Given the description of an element on the screen output the (x, y) to click on. 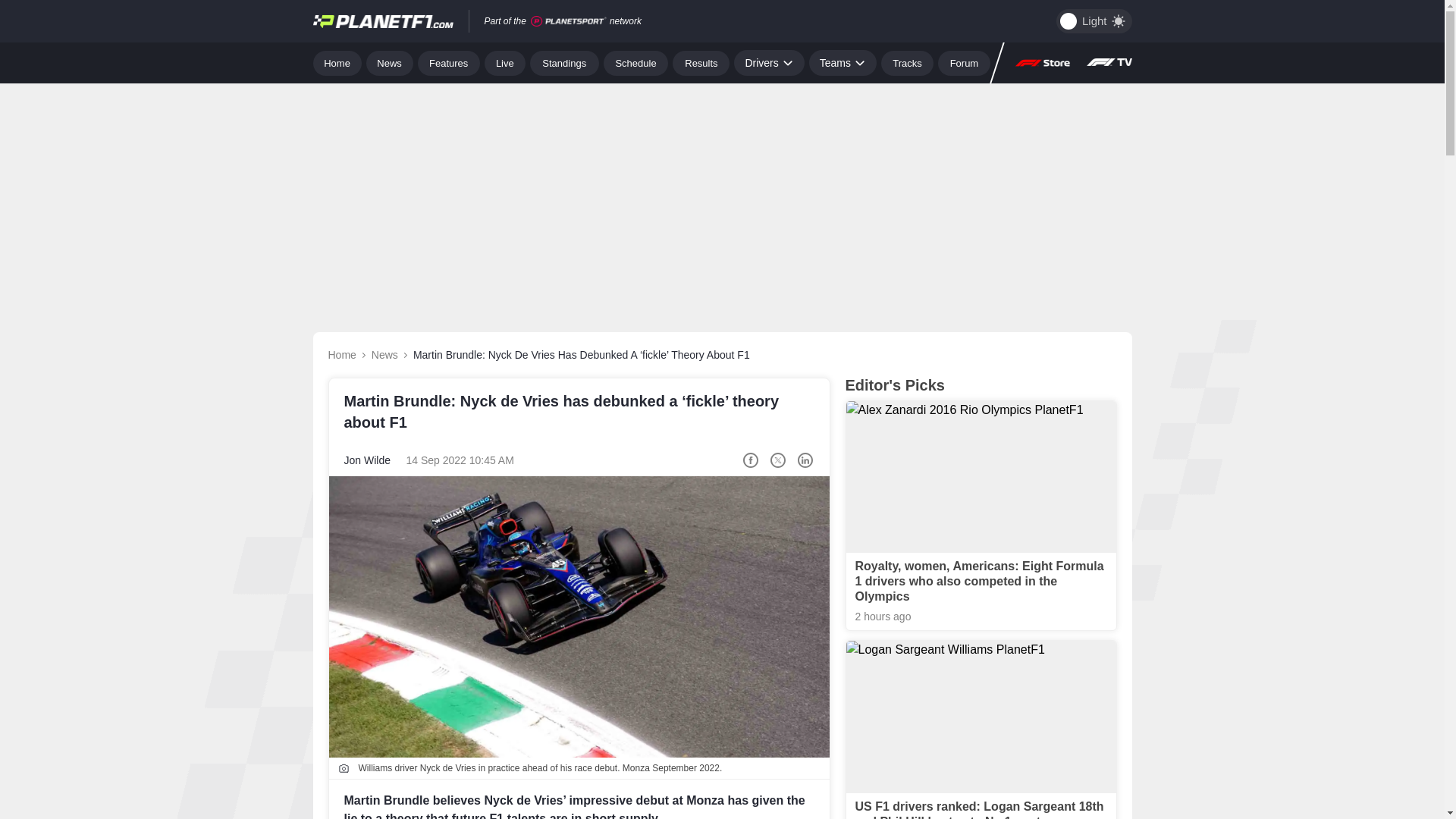
Features (448, 62)
Home (337, 62)
Drivers (768, 62)
Standings (563, 62)
Results (700, 62)
Schedule (636, 62)
Teams (842, 62)
News (389, 62)
Live (504, 62)
